Given the description of an element on the screen output the (x, y) to click on. 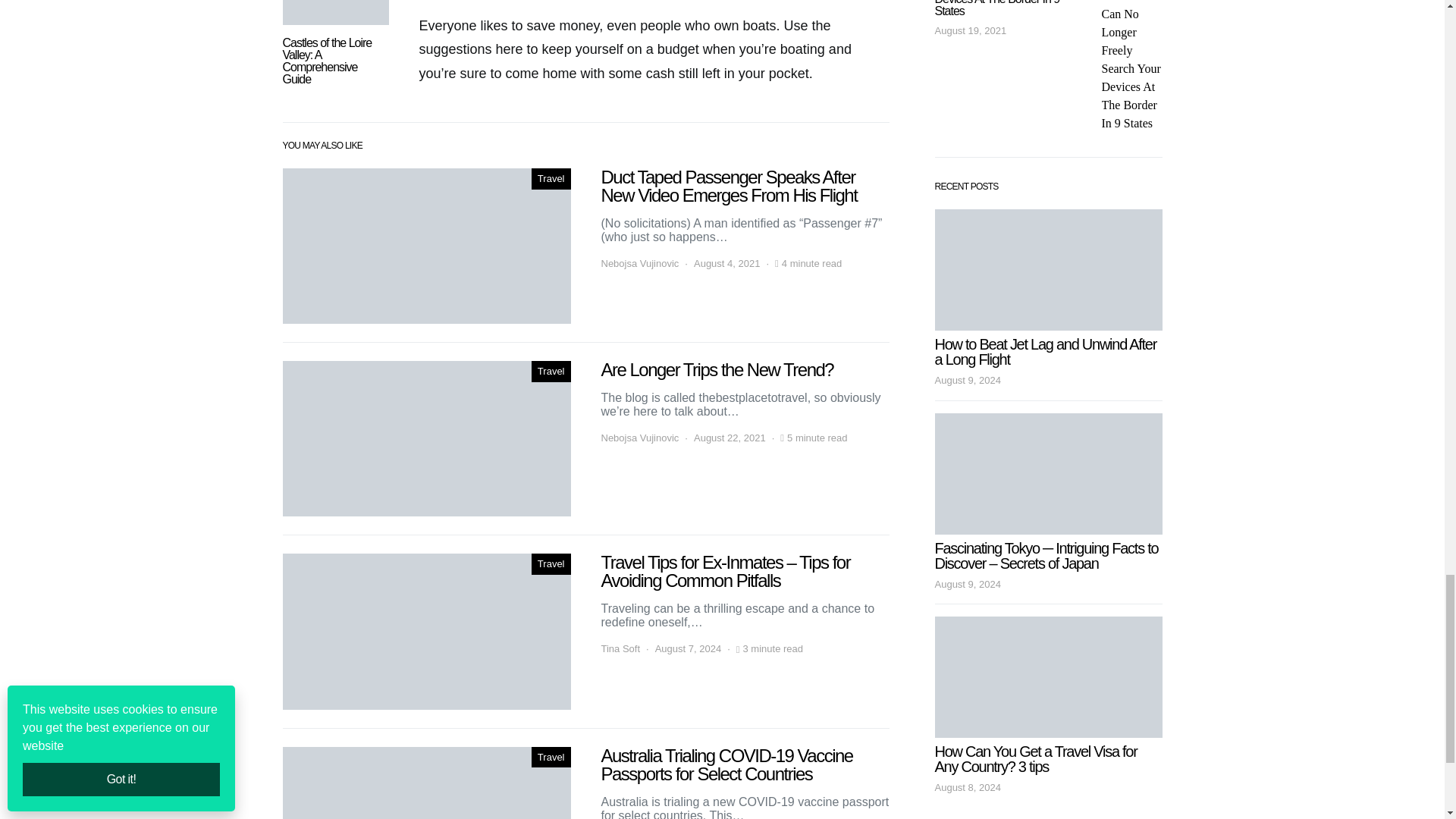
Nebojsa Vujinovic (638, 437)
Nebojsa Vujinovic (638, 263)
Travel (550, 563)
Travel (550, 371)
Tina Soft (619, 648)
View all posts by Tina Soft (619, 648)
Castles of the Loire Valley: A Comprehensive Guide (326, 60)
View all posts by Nebojsa Vujinovic (638, 263)
View all posts by Nebojsa Vujinovic (638, 437)
Travel (550, 178)
